Given the description of an element on the screen output the (x, y) to click on. 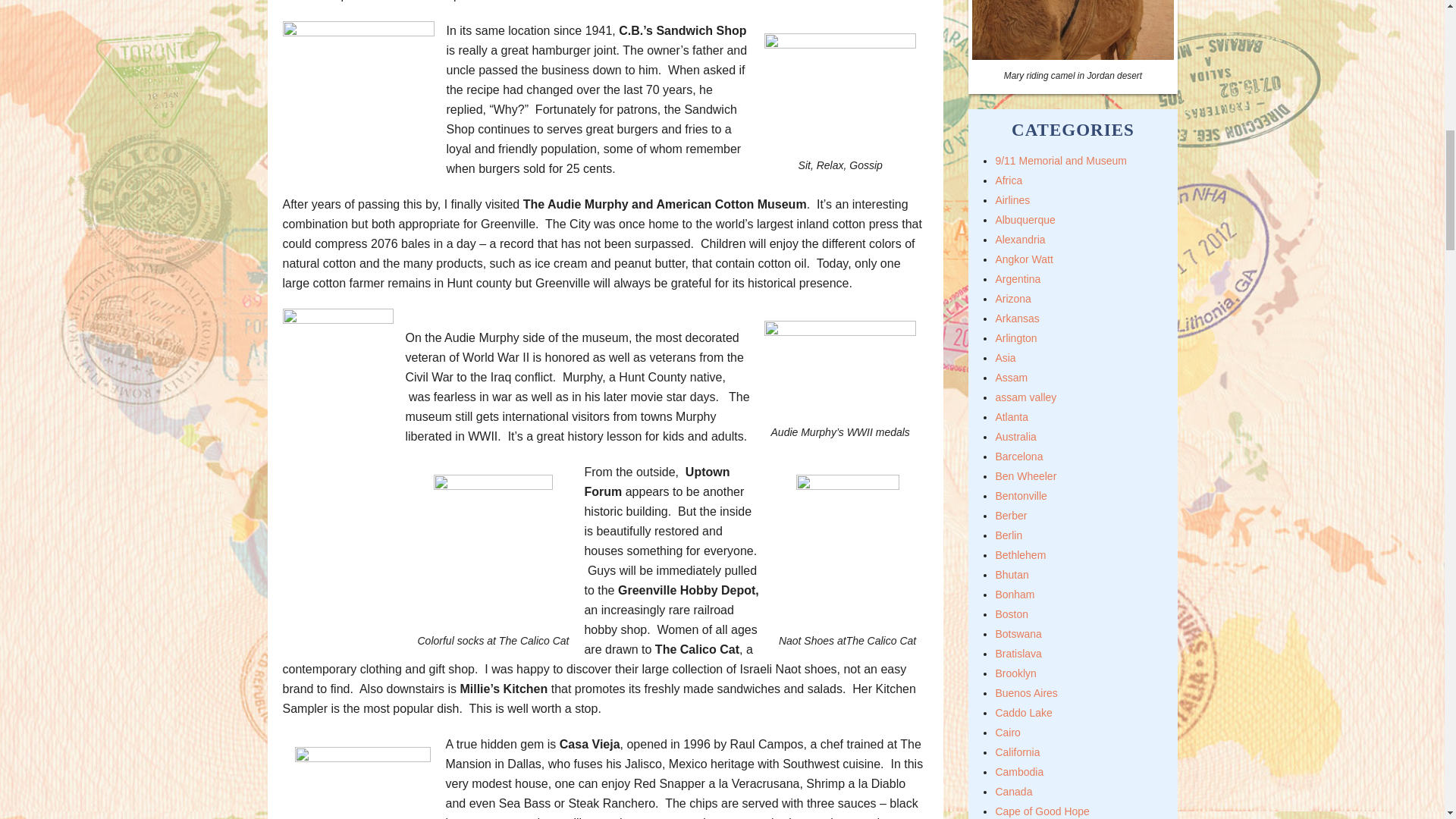
Arlington (1015, 337)
Arkansas (1016, 318)
Alexandria (1019, 239)
Angkor Watt (1023, 259)
Airlines (1011, 200)
Albuquerque (1024, 219)
Africa (1008, 180)
Argentina (1017, 278)
Arizona (1012, 298)
